Given the description of an element on the screen output the (x, y) to click on. 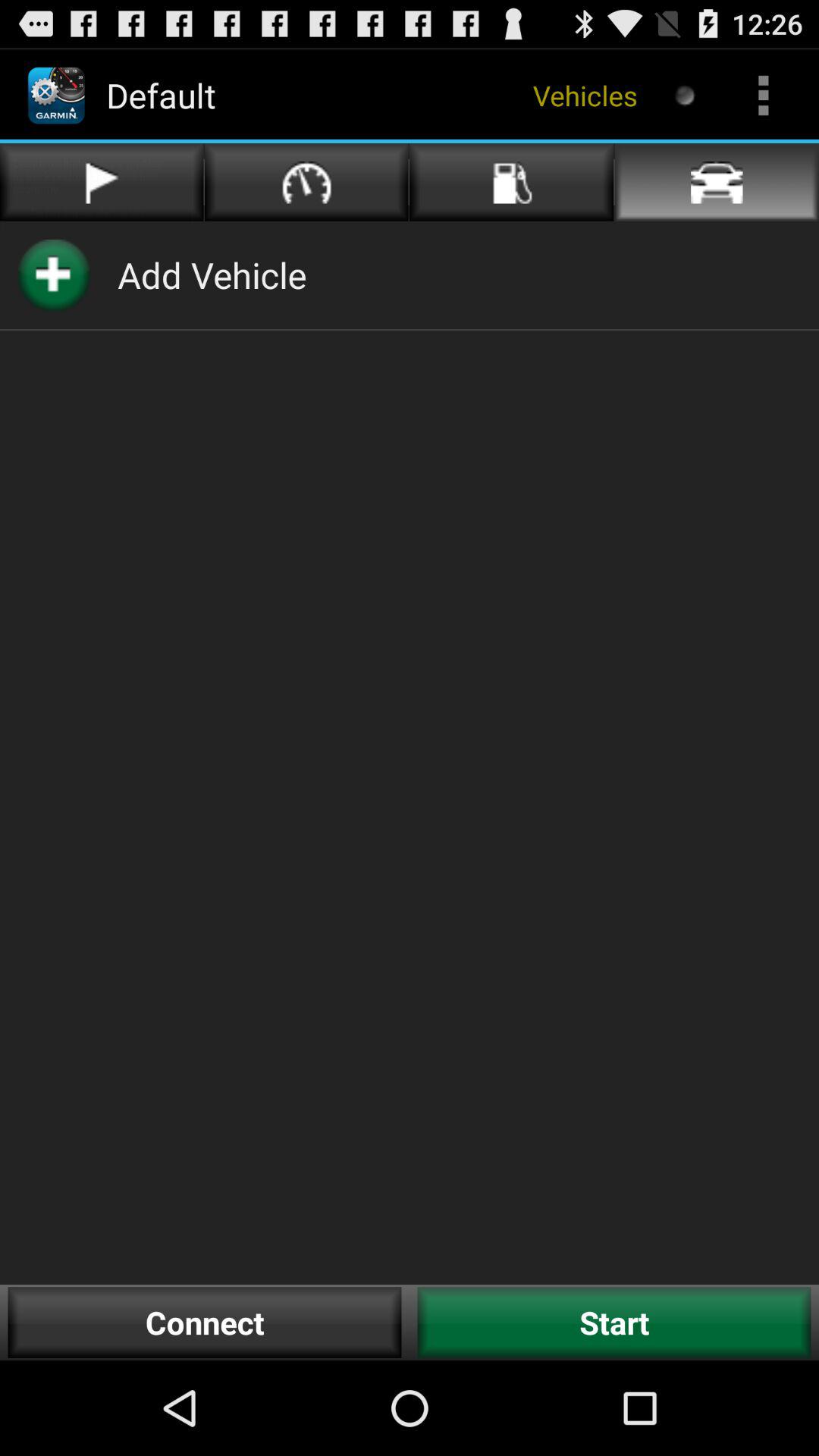
scroll to the start icon (614, 1322)
